Given the description of an element on the screen output the (x, y) to click on. 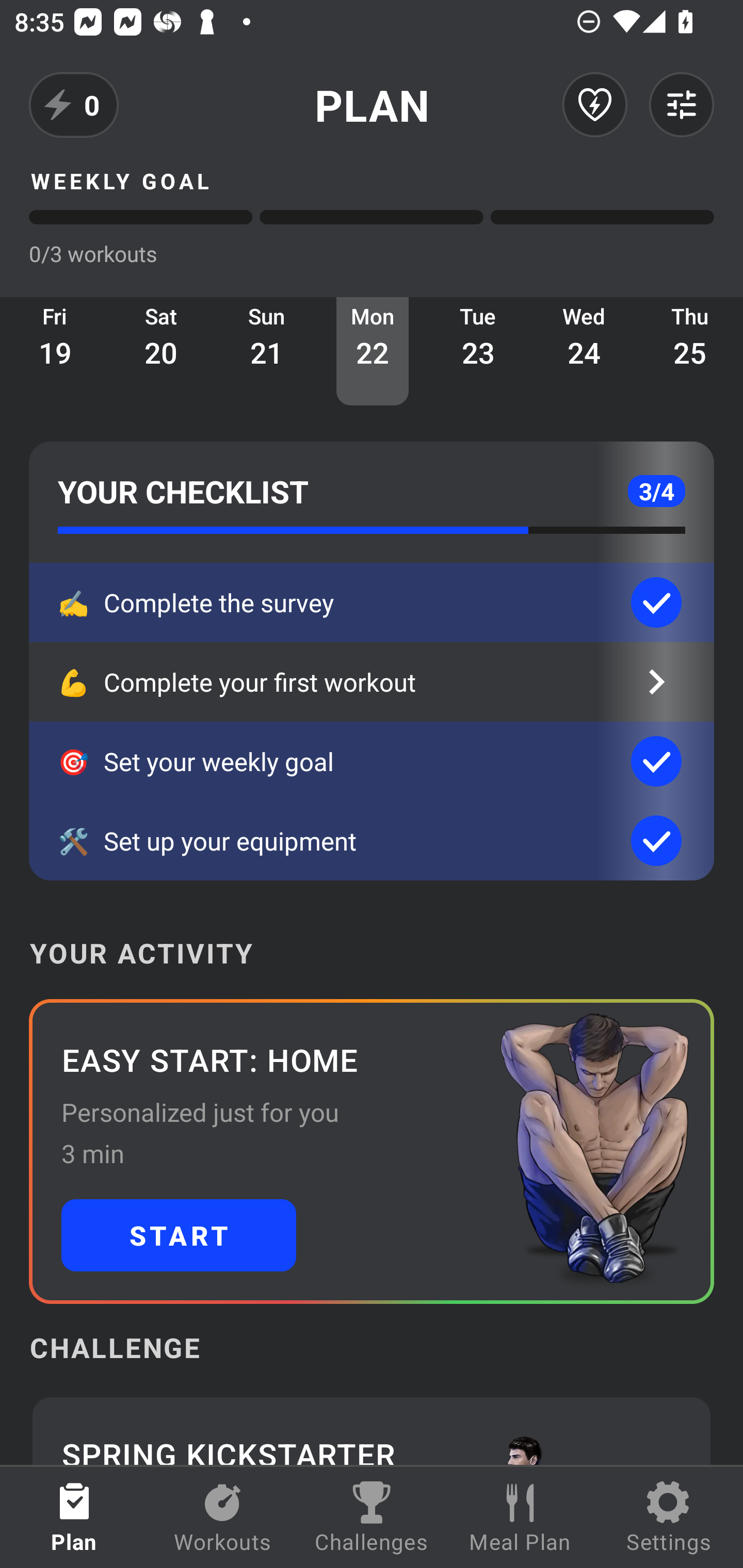
0 (73, 104)
Fri 19 (55, 351)
Sat 20 (160, 351)
Sun 21 (266, 351)
Mon 22 (372, 351)
Tue 23 (478, 351)
Wed 24 (584, 351)
Thu 25 (690, 351)
💪 Complete your first workout (371, 681)
START (178, 1235)
 Workouts  (222, 1517)
 Challenges  (371, 1517)
 Meal Plan  (519, 1517)
 Settings  (668, 1517)
